Given the description of an element on the screen output the (x, y) to click on. 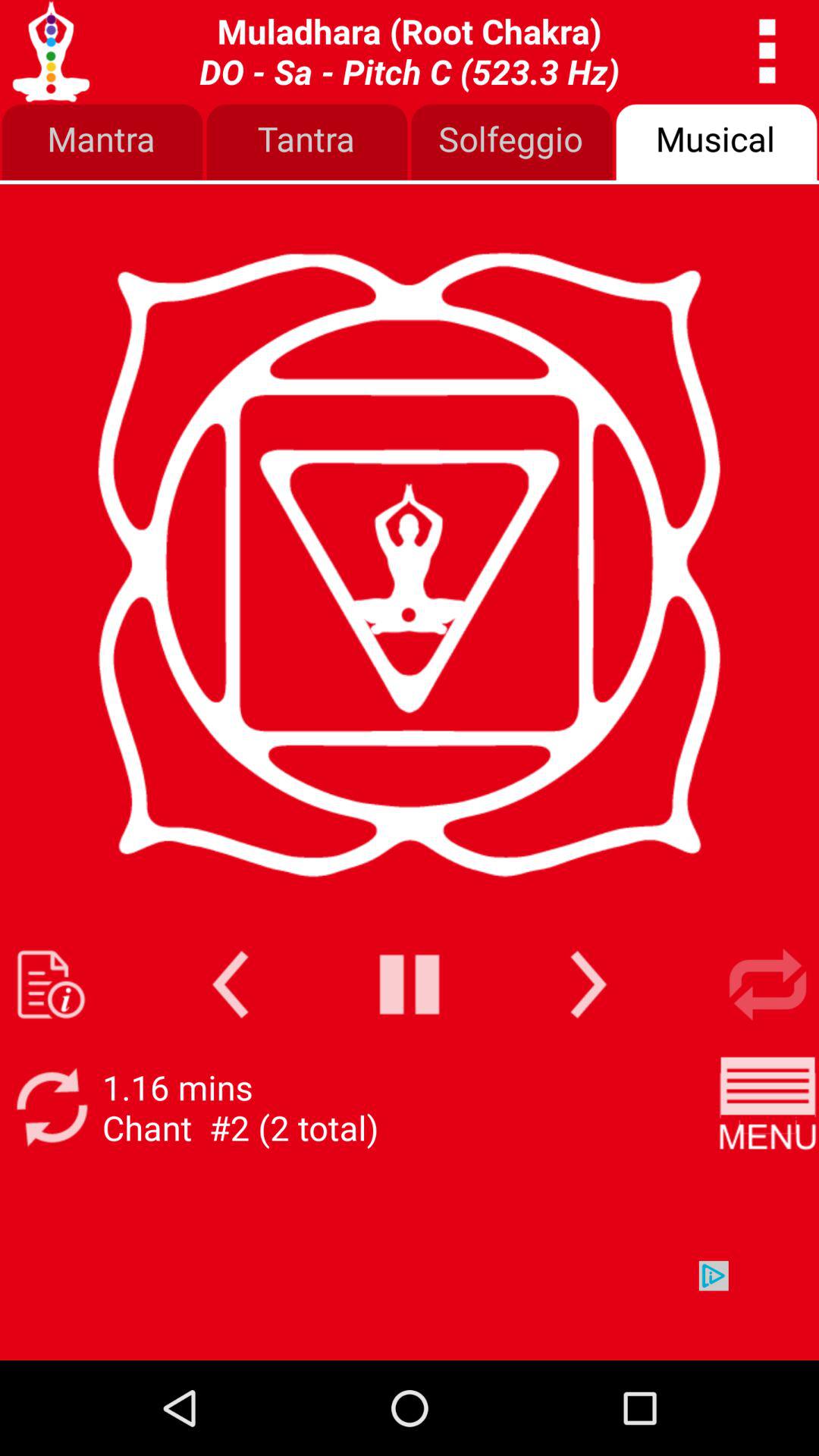
previous audio (230, 984)
